Given the description of an element on the screen output the (x, y) to click on. 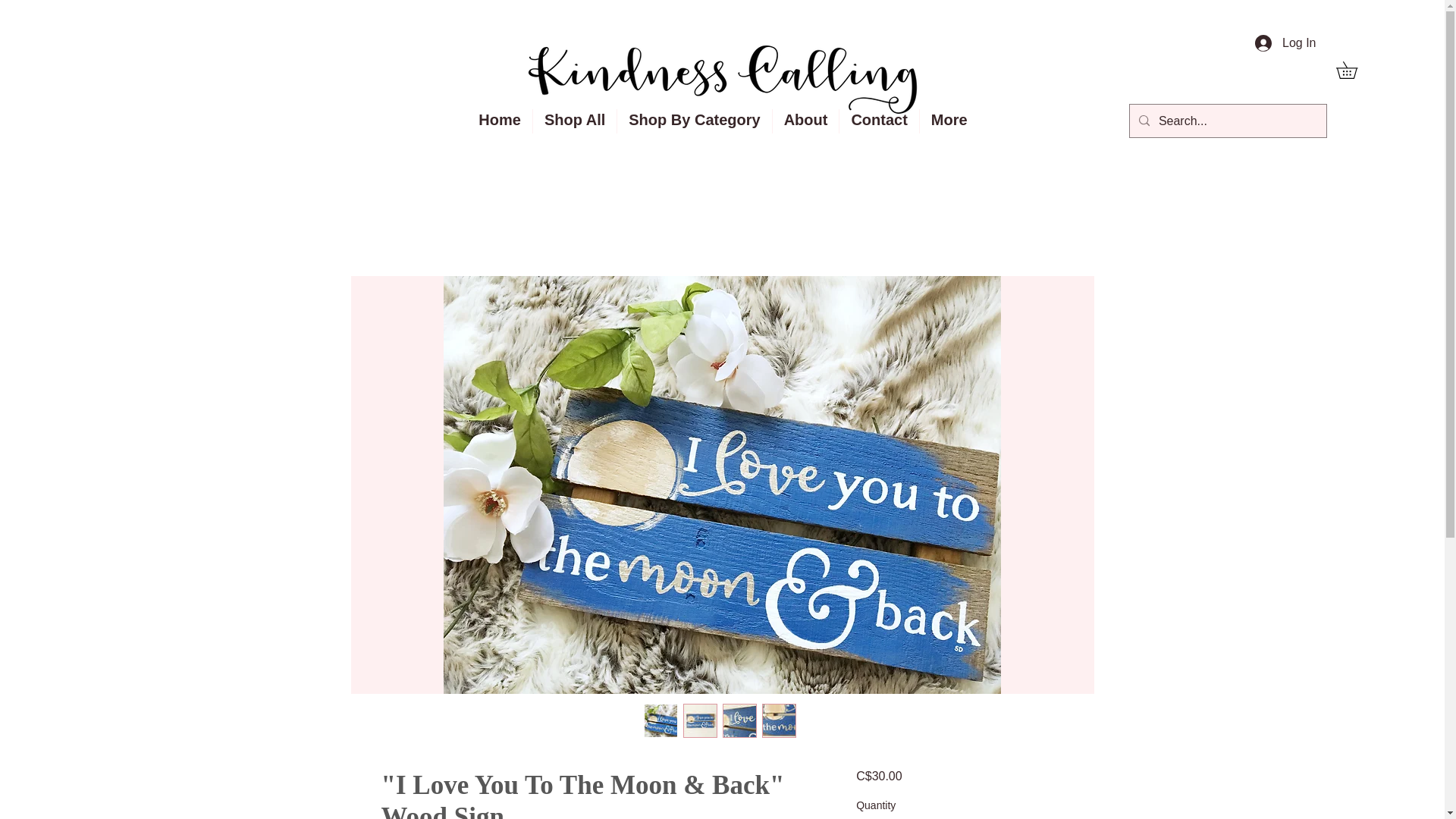
Log In (1285, 42)
Contact (879, 120)
Shop By Category (694, 120)
About (806, 120)
Shop All (573, 120)
Home (499, 120)
